Given the description of an element on the screen output the (x, y) to click on. 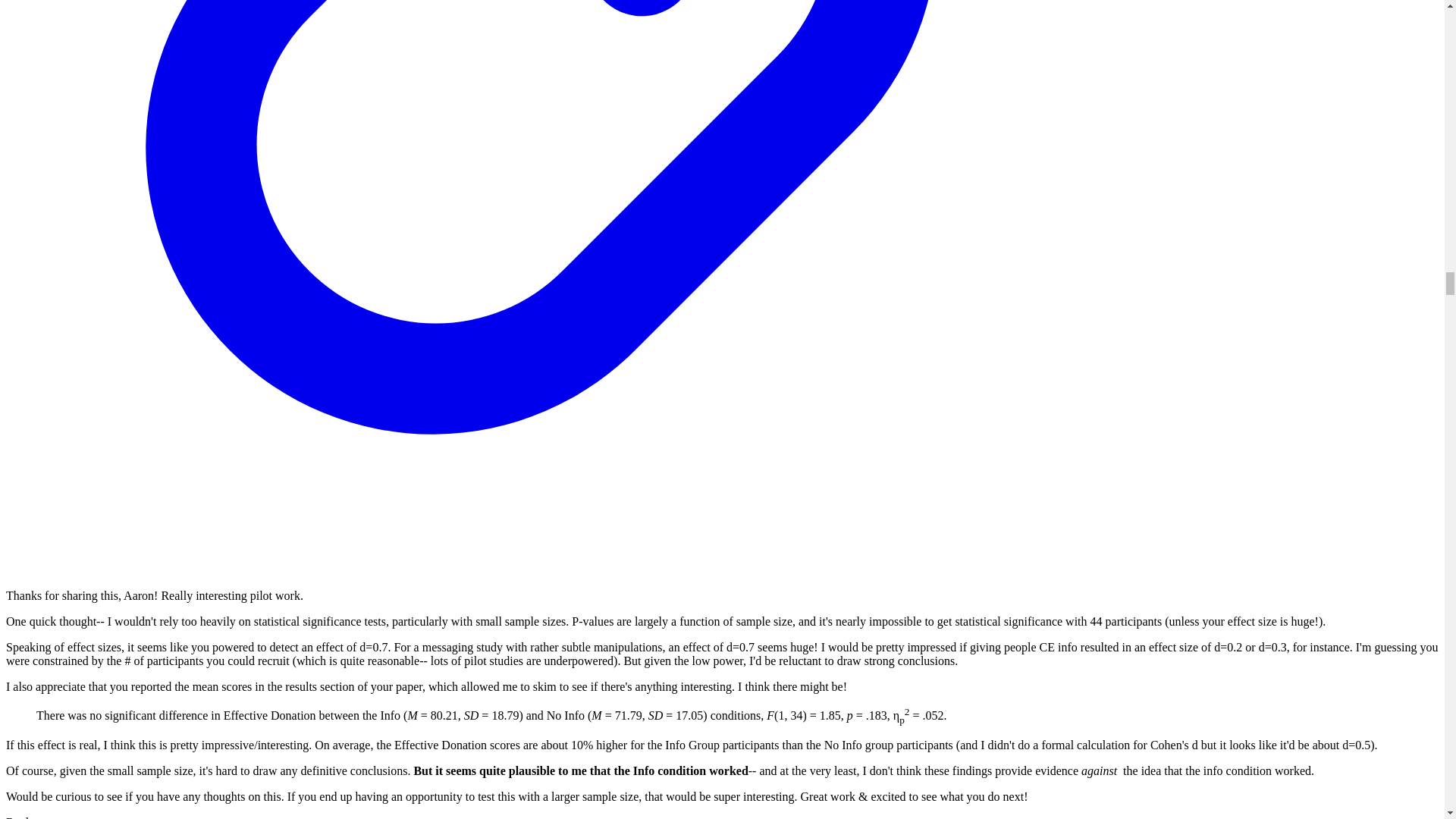
Reply (19, 817)
